Given the description of an element on the screen output the (x, y) to click on. 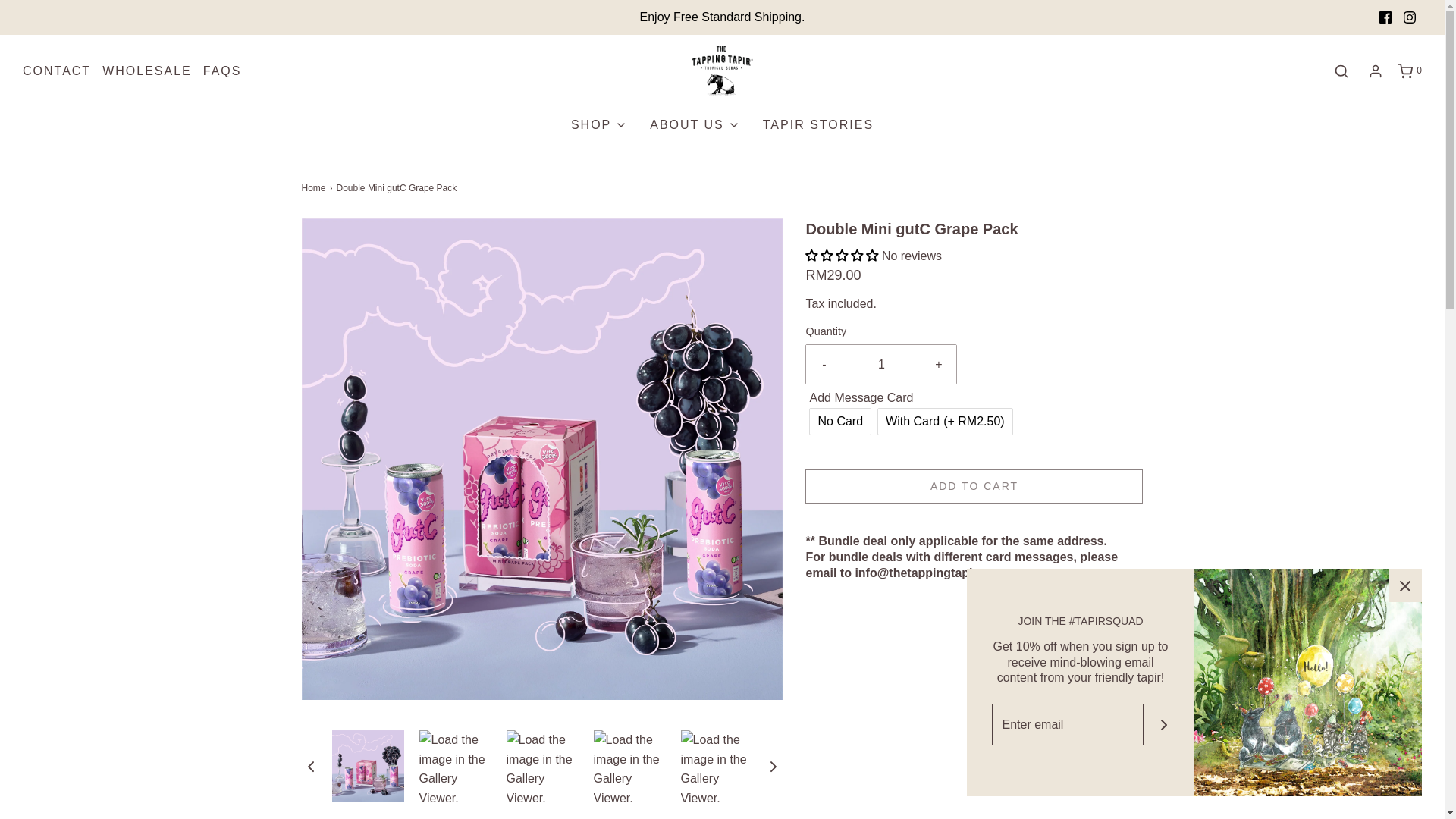
Cart (1409, 70)
1 (881, 364)
Facebook icon (1384, 17)
Login (1375, 70)
Search (1341, 71)
Facebook icon (1385, 16)
Instagram icon (1409, 16)
Instagram icon (1409, 17)
Back home (315, 187)
